Given the description of an element on the screen output the (x, y) to click on. 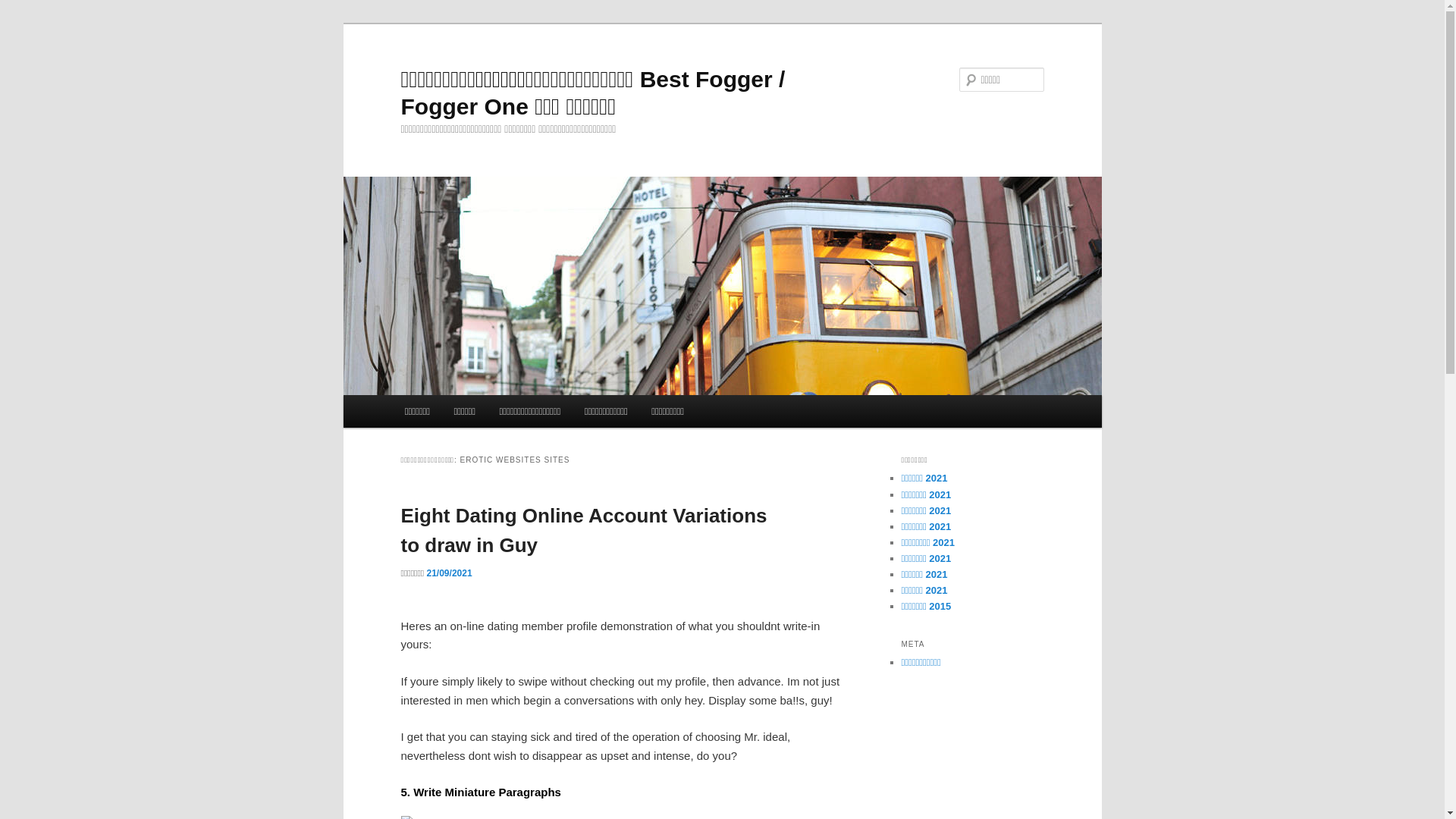
17:12 (448, 573)
Eight Dating Online Account Variations to draw in Guy (583, 530)
